Given the description of an element on the screen output the (x, y) to click on. 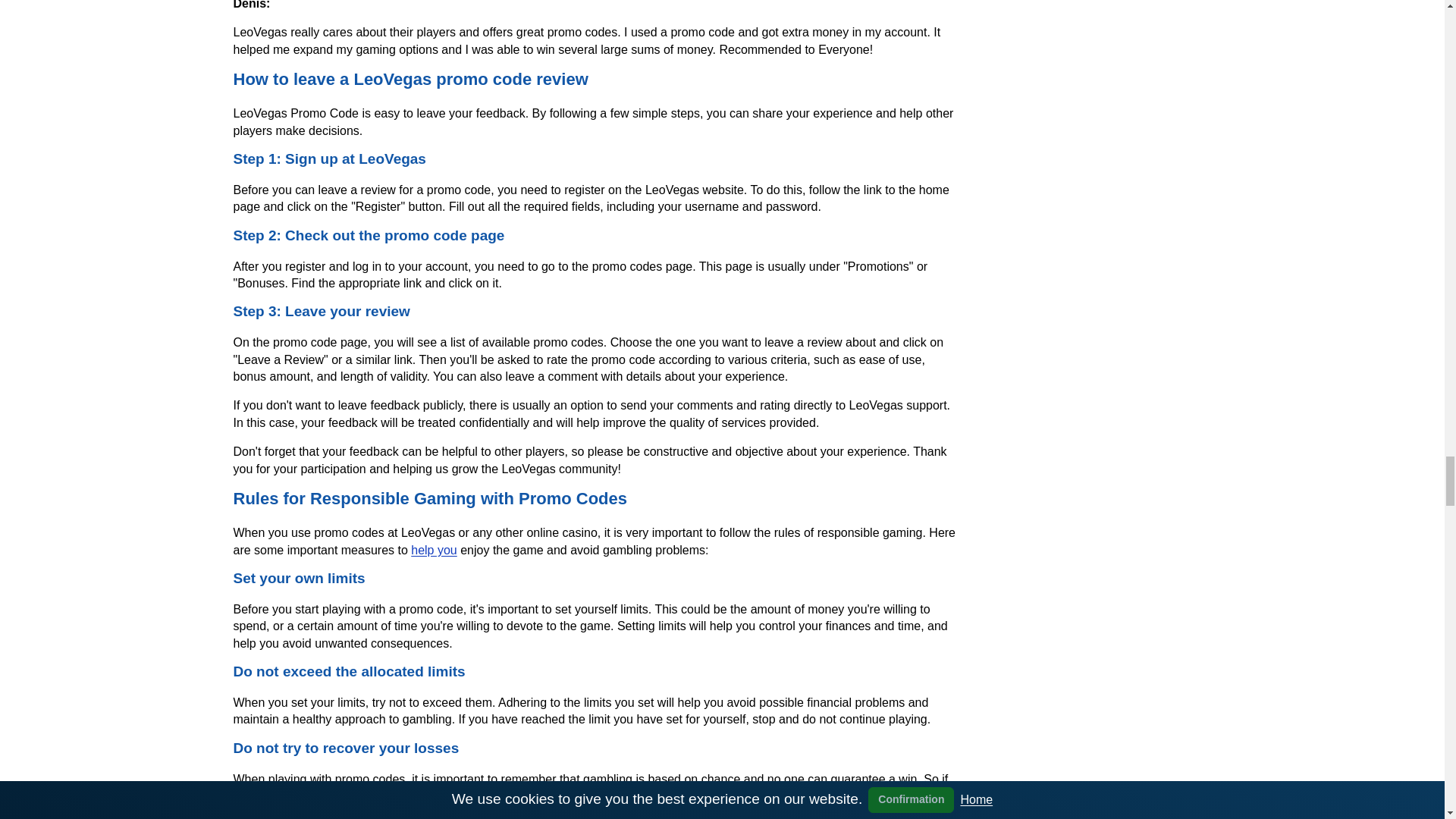
help you (433, 549)
